Given the description of an element on the screen output the (x, y) to click on. 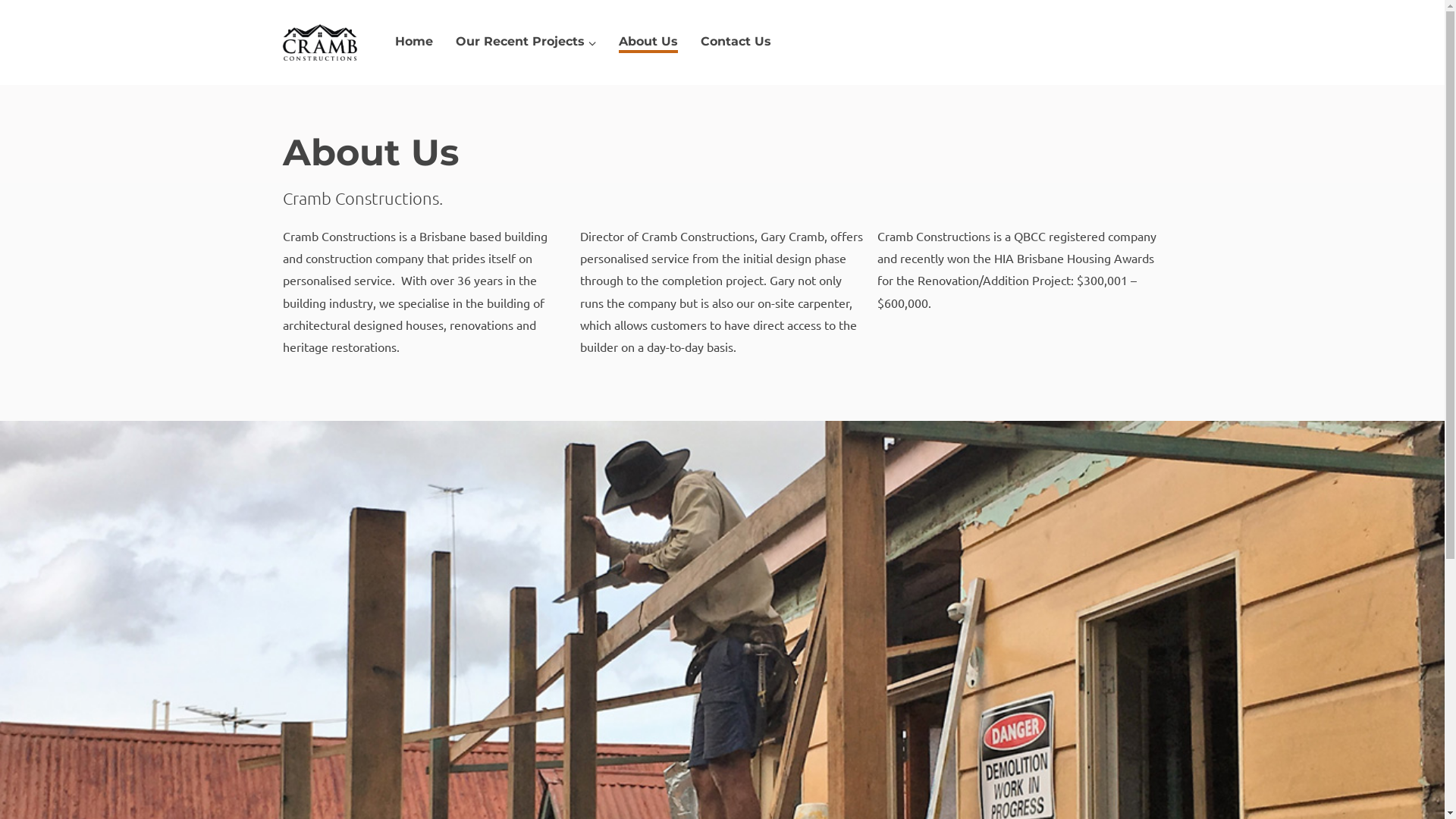
Home Element type: text (414, 42)
Contact Us Element type: text (735, 42)
Search Element type: text (24, 13)
Our Recent Projects Element type: text (525, 42)
About Us Element type: text (647, 42)
